Given the description of an element on the screen output the (x, y) to click on. 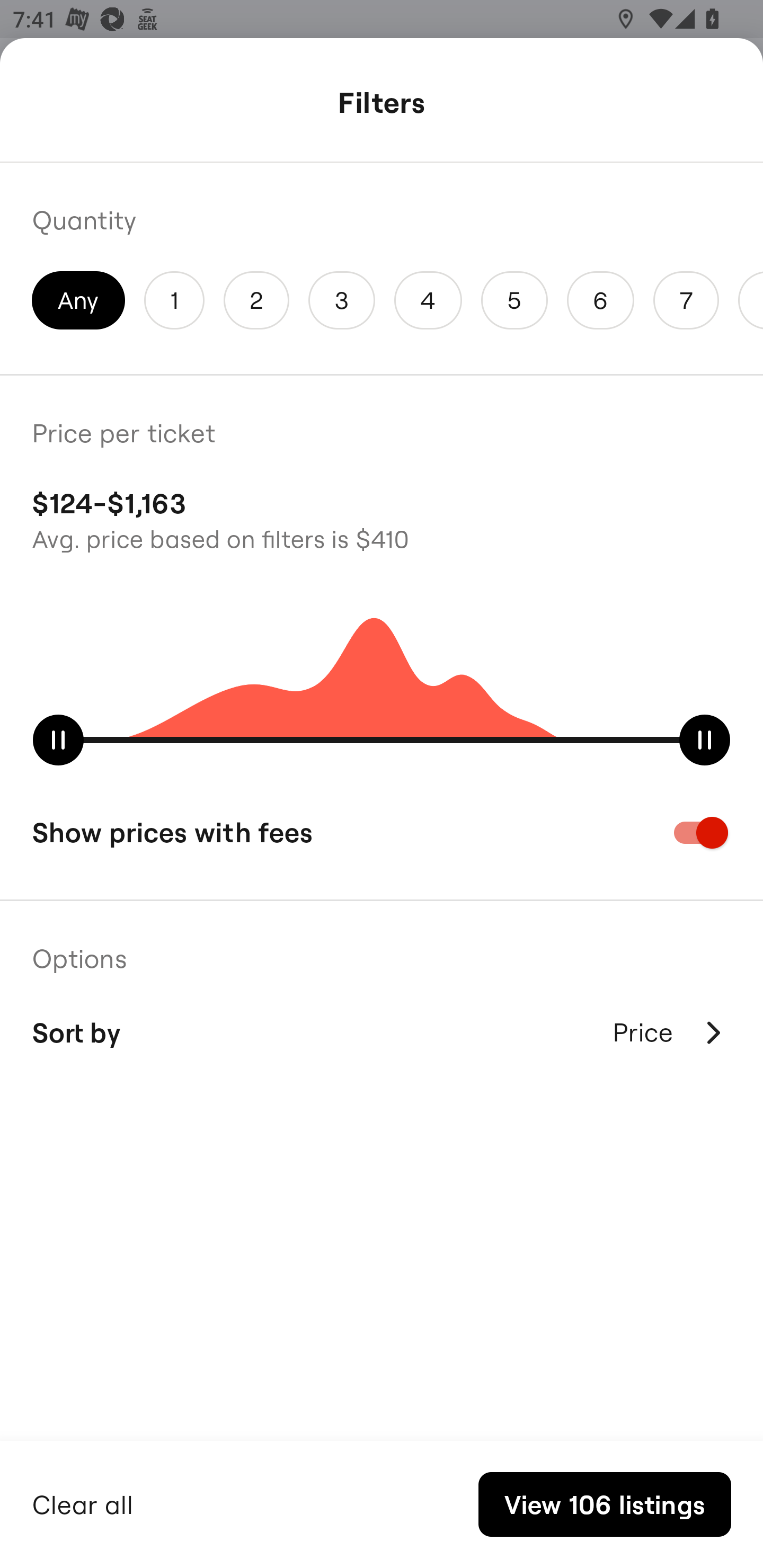
Any (78, 300)
1 (173, 300)
2 (256, 300)
3 (341, 300)
4 (427, 300)
5 (514, 300)
6 (601, 300)
7 (685, 300)
$124-$1,163 Avg. price based on filters is $410 (381, 518)
Show prices with fees (381, 832)
Sort by Price (381, 1032)
Clear all (83, 1502)
View 106 listings (604, 1504)
